Given the description of an element on the screen output the (x, y) to click on. 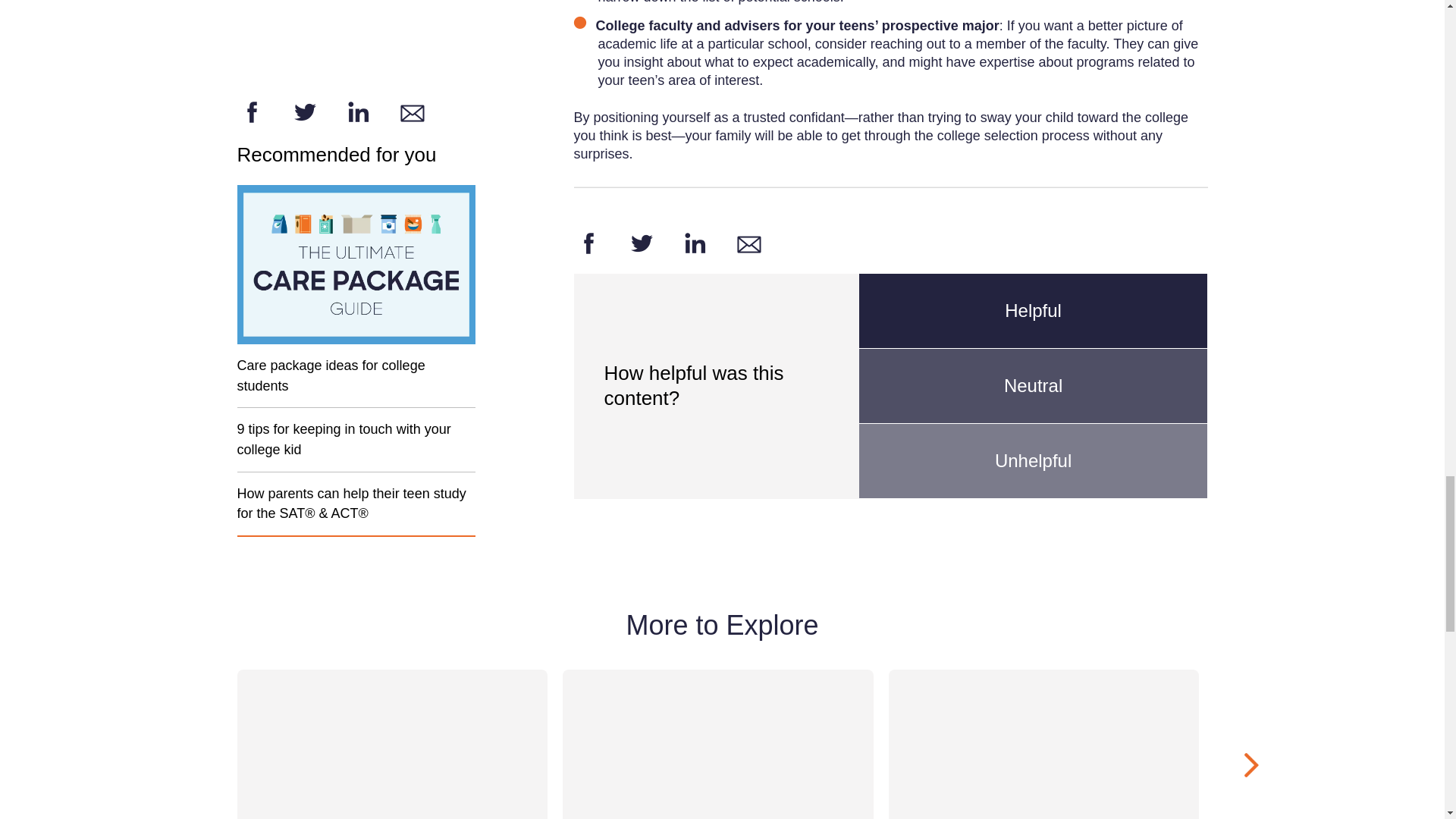
9 tips for helping your student pick a college  (694, 243)
9 tips for helping your student pick a college  (641, 243)
9 tips for helping your student pick a college  (588, 243)
